Given the description of an element on the screen output the (x, y) to click on. 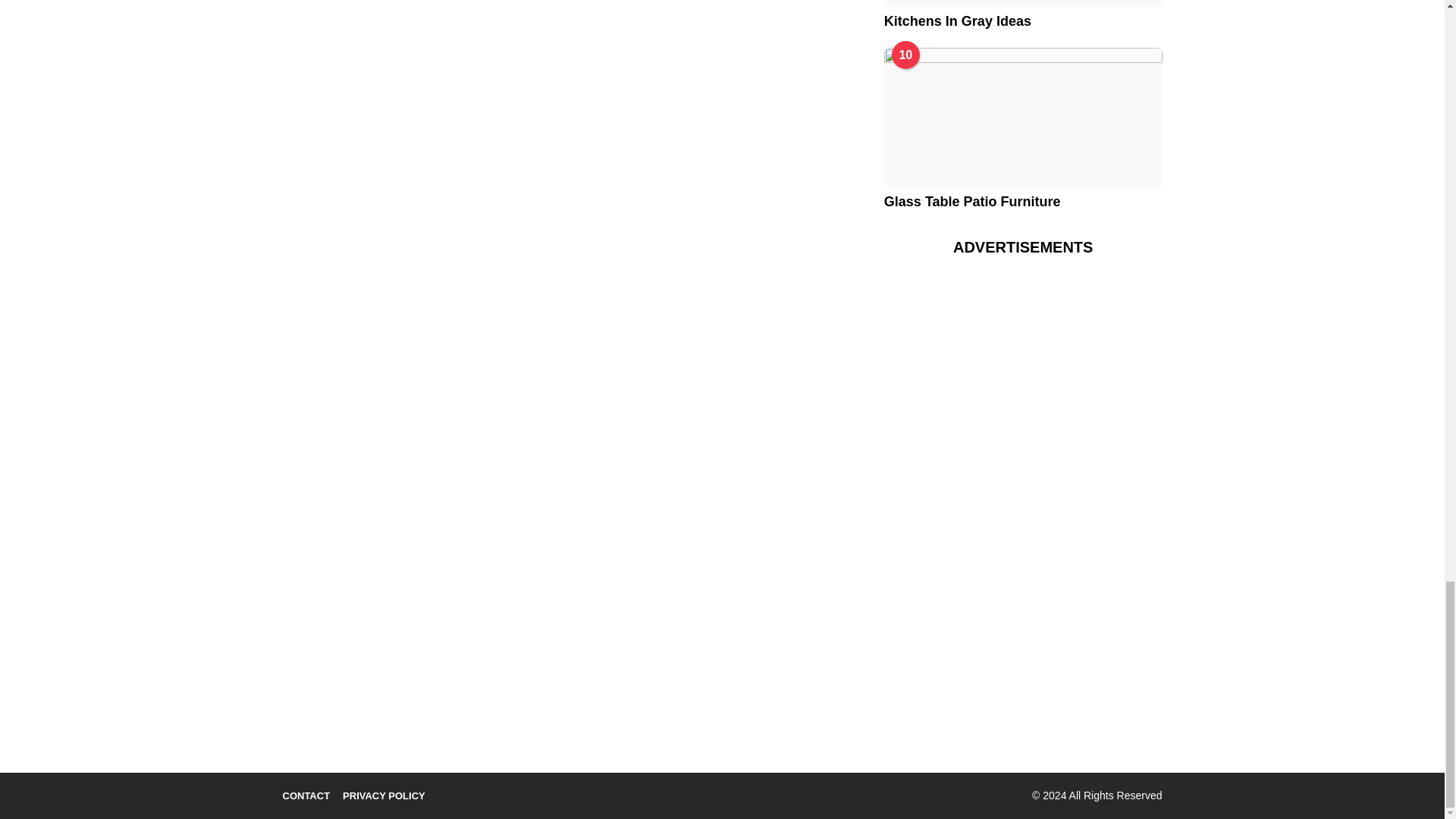
Kitchens In Gray Ideas (1022, 3)
Glass Table Patio Furniture (1022, 116)
